Given the description of an element on the screen output the (x, y) to click on. 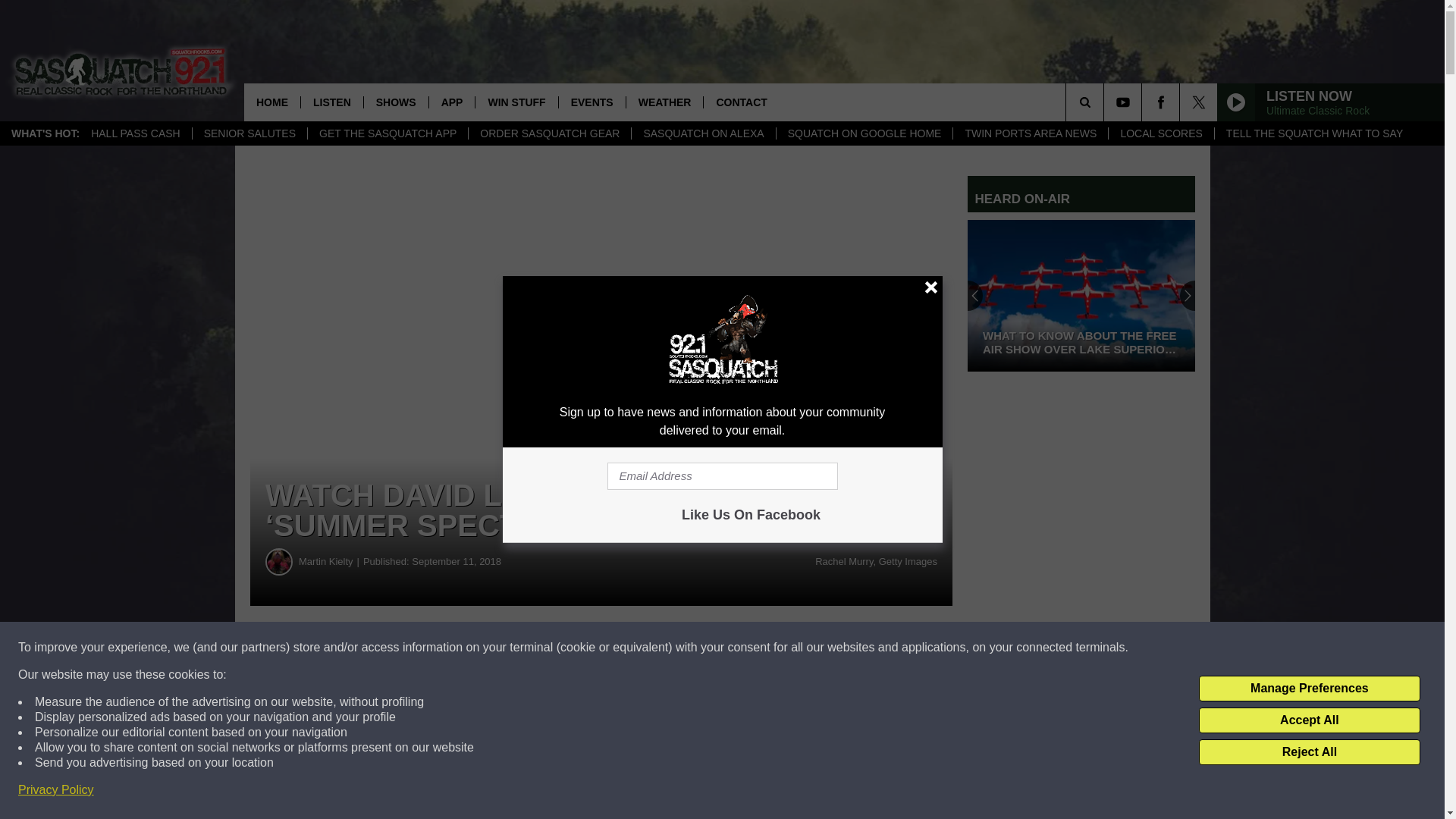
Manage Preferences (1309, 688)
TWIN PORTS AREA NEWS (1030, 133)
Reject All (1309, 751)
Share on Facebook (460, 647)
LISTEN (330, 102)
ORDER SASQUATCH GEAR (548, 133)
Email Address (722, 475)
SEARCH (1106, 102)
SHOWS (395, 102)
LOCAL SCORES (1160, 133)
SENIOR SALUTES (249, 133)
Accept All (1309, 720)
GET THE SASQUATCH APP (387, 133)
HOME (271, 102)
SEARCH (1106, 102)
